Given the description of an element on the screen output the (x, y) to click on. 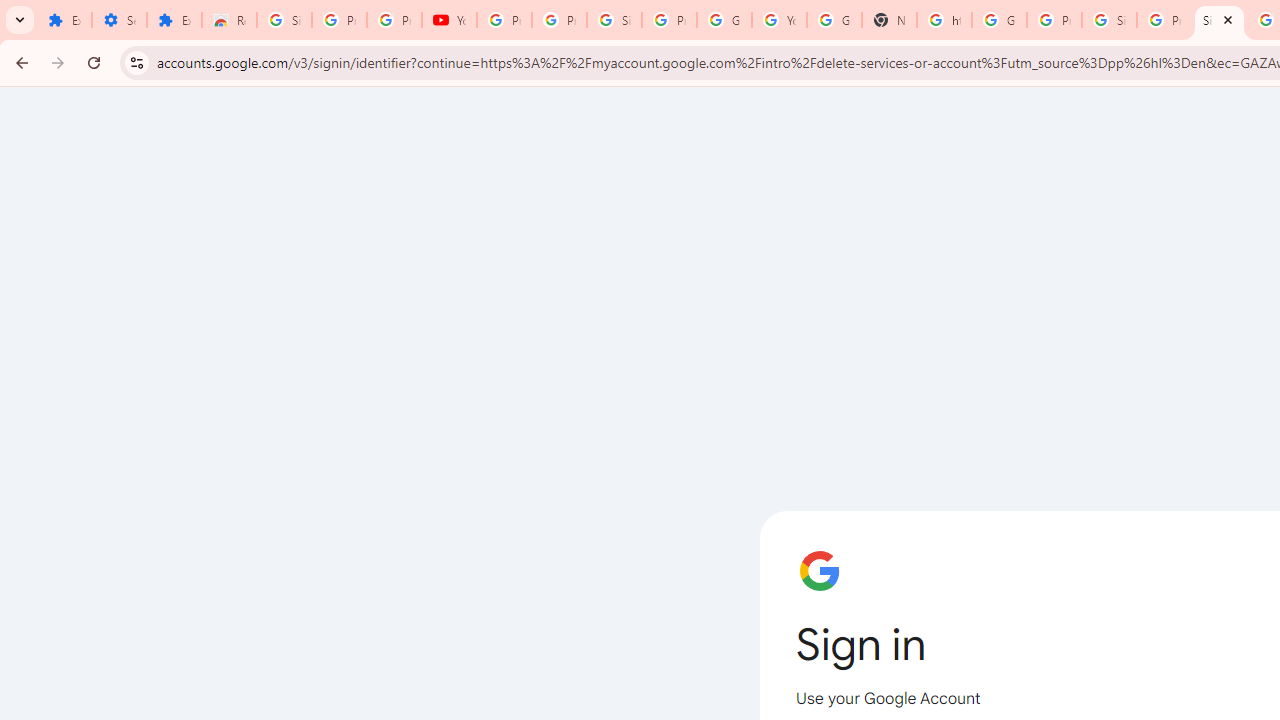
New Tab (888, 20)
Sign in - Google Accounts (614, 20)
